Given the description of an element on the screen output the (x, y) to click on. 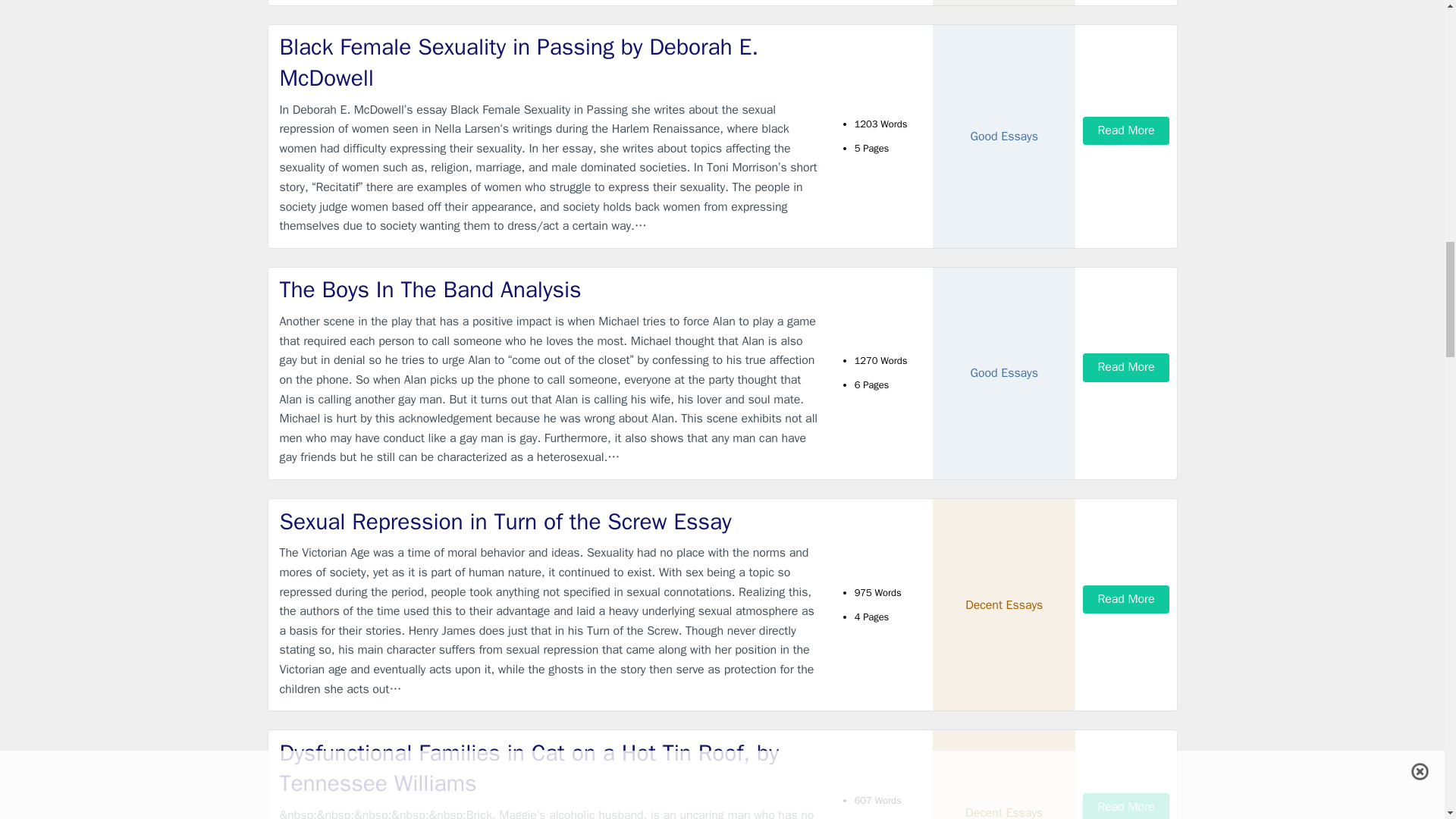
Read More (1126, 599)
The Boys In The Band Analysis (548, 289)
Black Female Sexuality in Passing by Deborah E. McDowell (548, 62)
Read More (1126, 130)
Sexual Repression in Turn of the Screw Essay (548, 521)
Read More (1126, 366)
Read More (1126, 806)
